Given the description of an element on the screen output the (x, y) to click on. 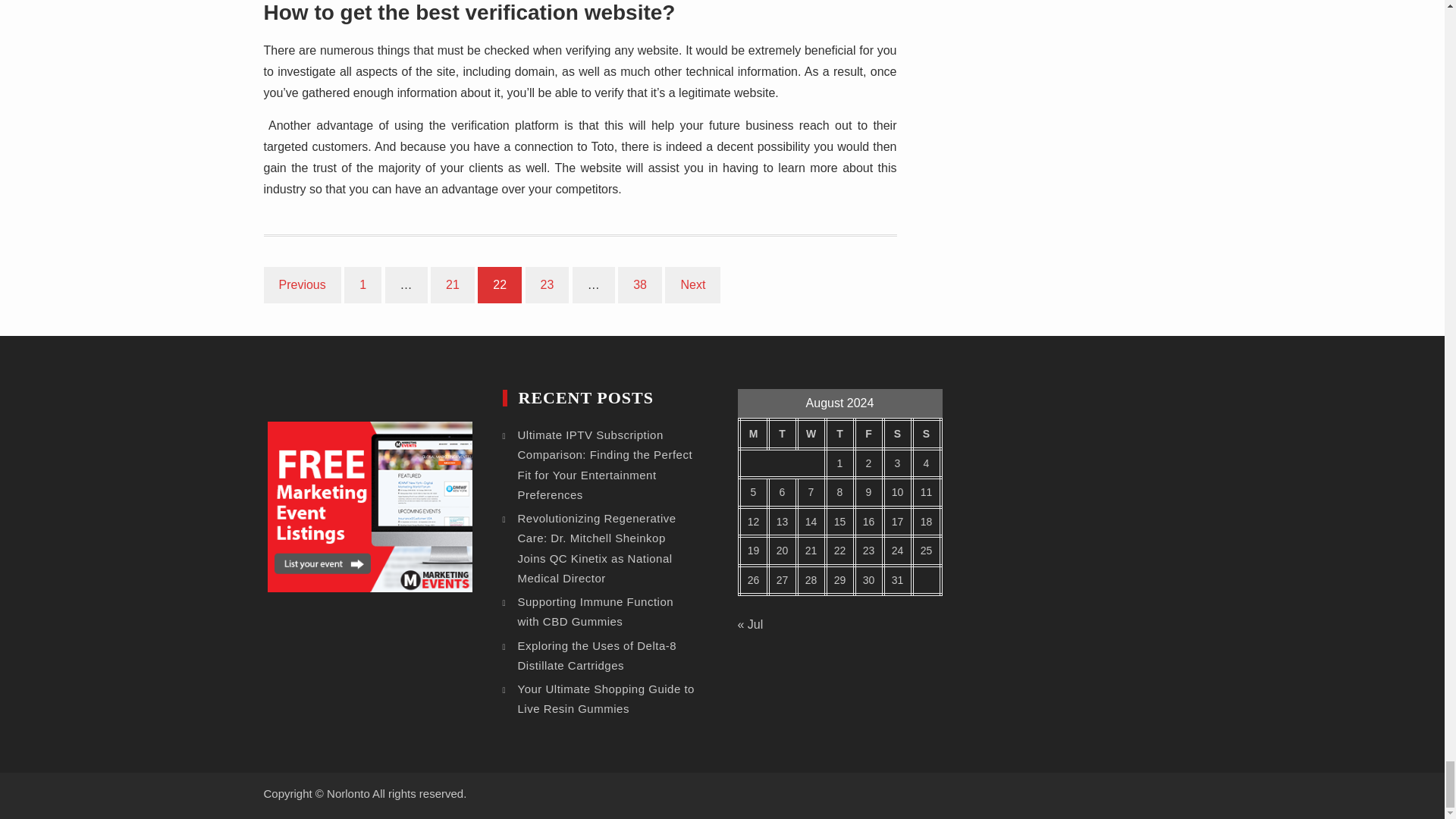
Friday (867, 433)
Thursday (839, 433)
Wednesday (810, 433)
Saturday (896, 433)
Sunday (925, 433)
Monday (752, 433)
Tuesday (781, 433)
